Given the description of an element on the screen output the (x, y) to click on. 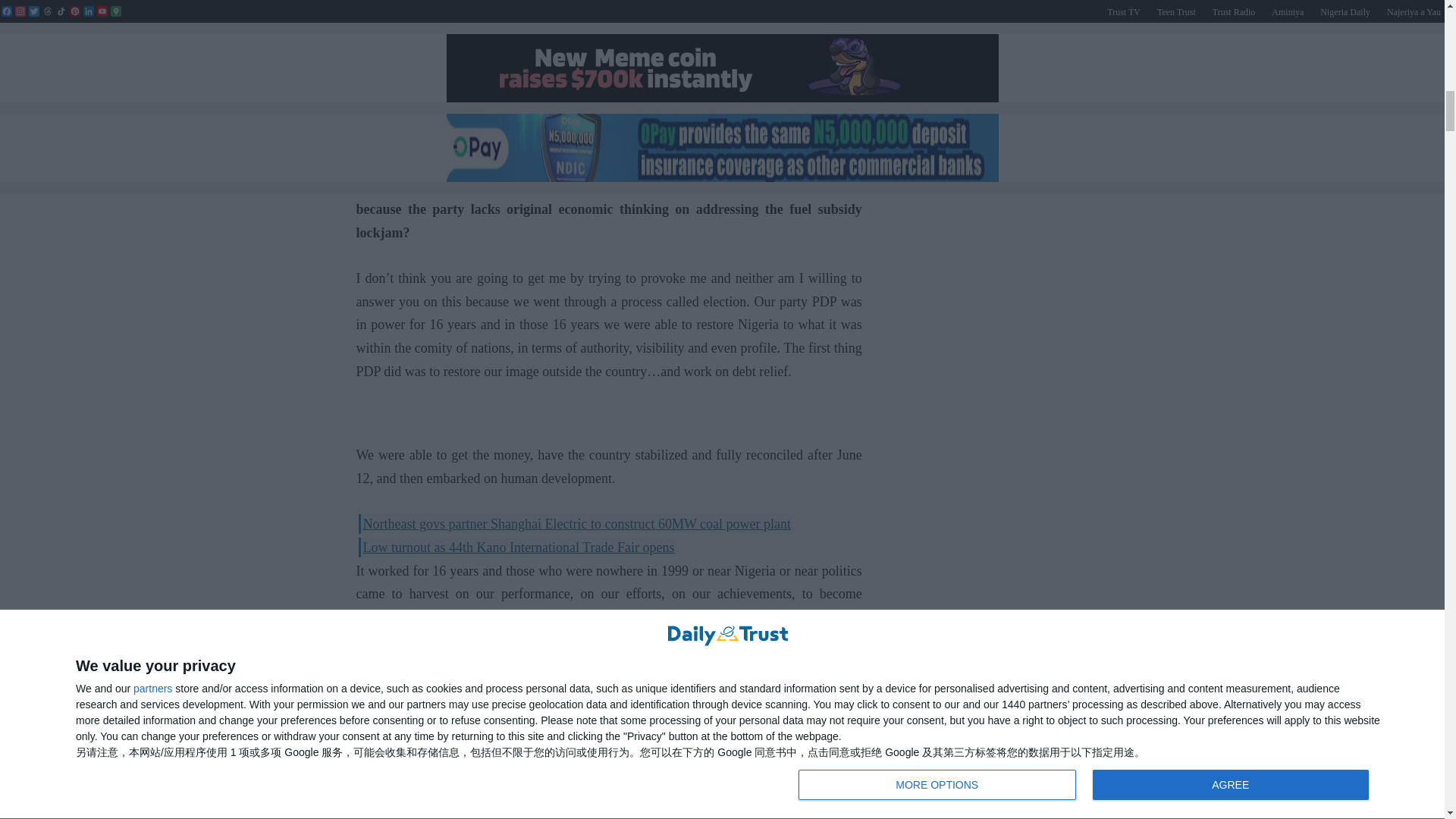
Traveling across Quang Binh to stunning cinematic locations (608, 64)
